Given the description of an element on the screen output the (x, y) to click on. 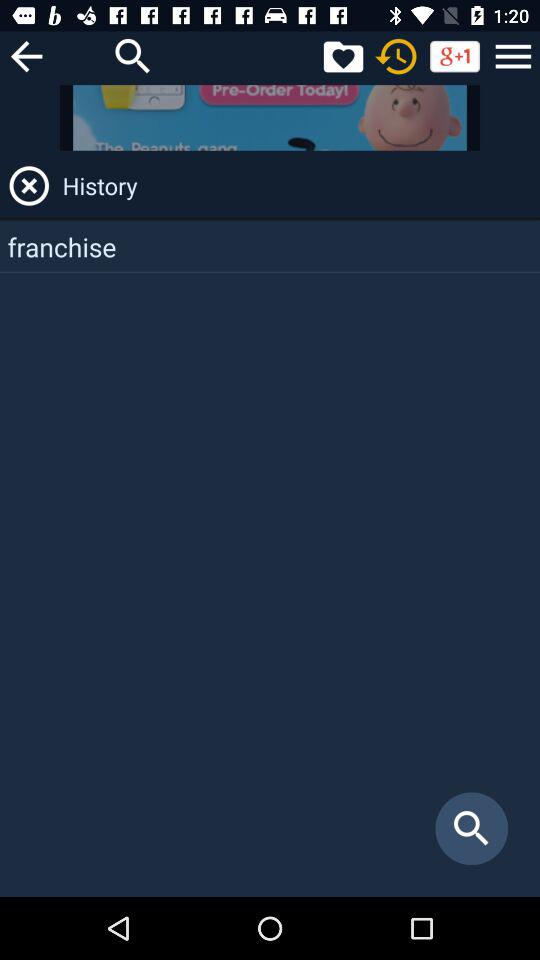
tap the franchise app (270, 246)
